Given the description of an element on the screen output the (x, y) to click on. 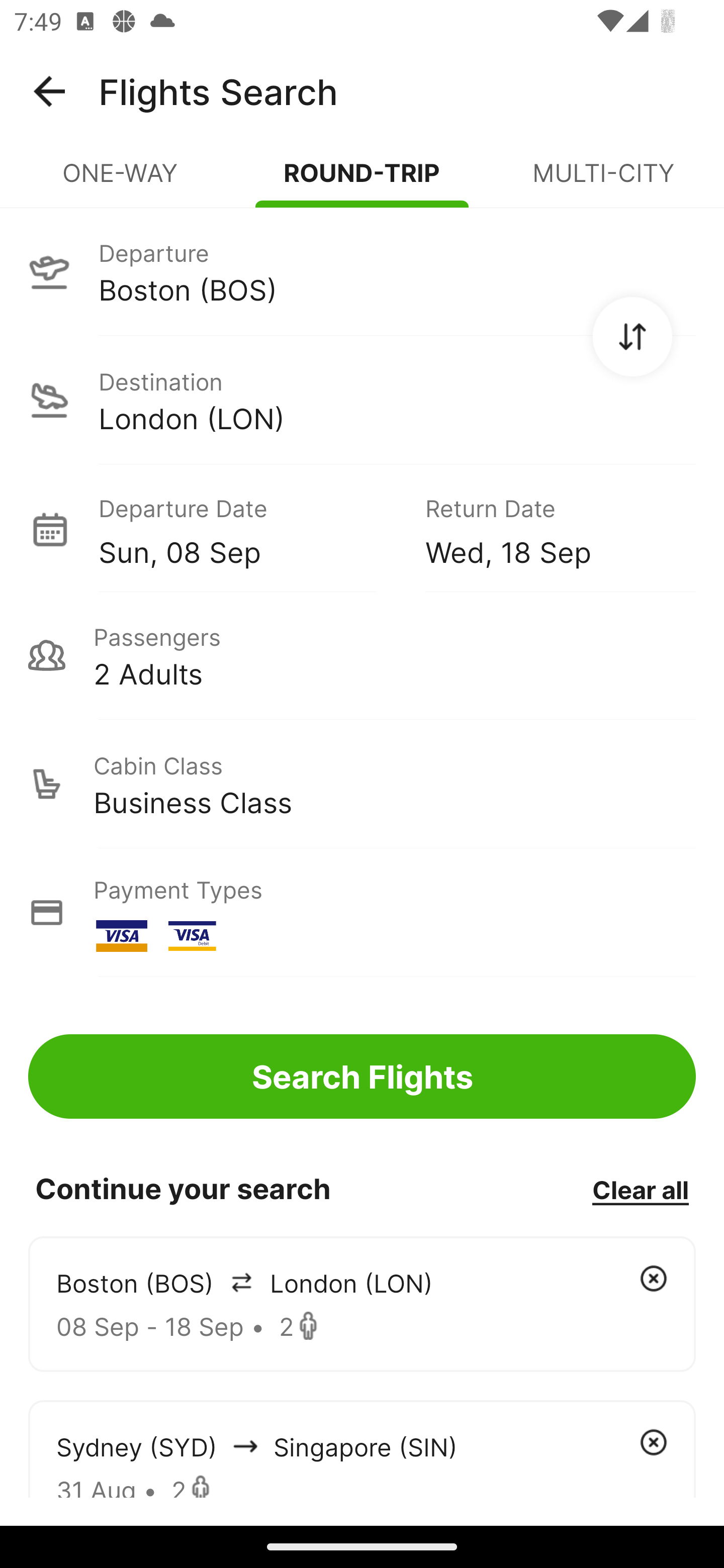
ONE-WAY (120, 180)
ROUND-TRIP (361, 180)
MULTI-CITY (603, 180)
Departure Boston (BOS) (362, 270)
Destination London (LON) (362, 400)
Departure Date Sun, 08 Sep (247, 528)
Return Date Wed, 18 Sep (546, 528)
Passengers 2 Adults (362, 655)
Cabin Class Business Class (362, 783)
Payment Types (362, 912)
Search Flights (361, 1075)
Clear all (640, 1189)
